Given the description of an element on the screen output the (x, y) to click on. 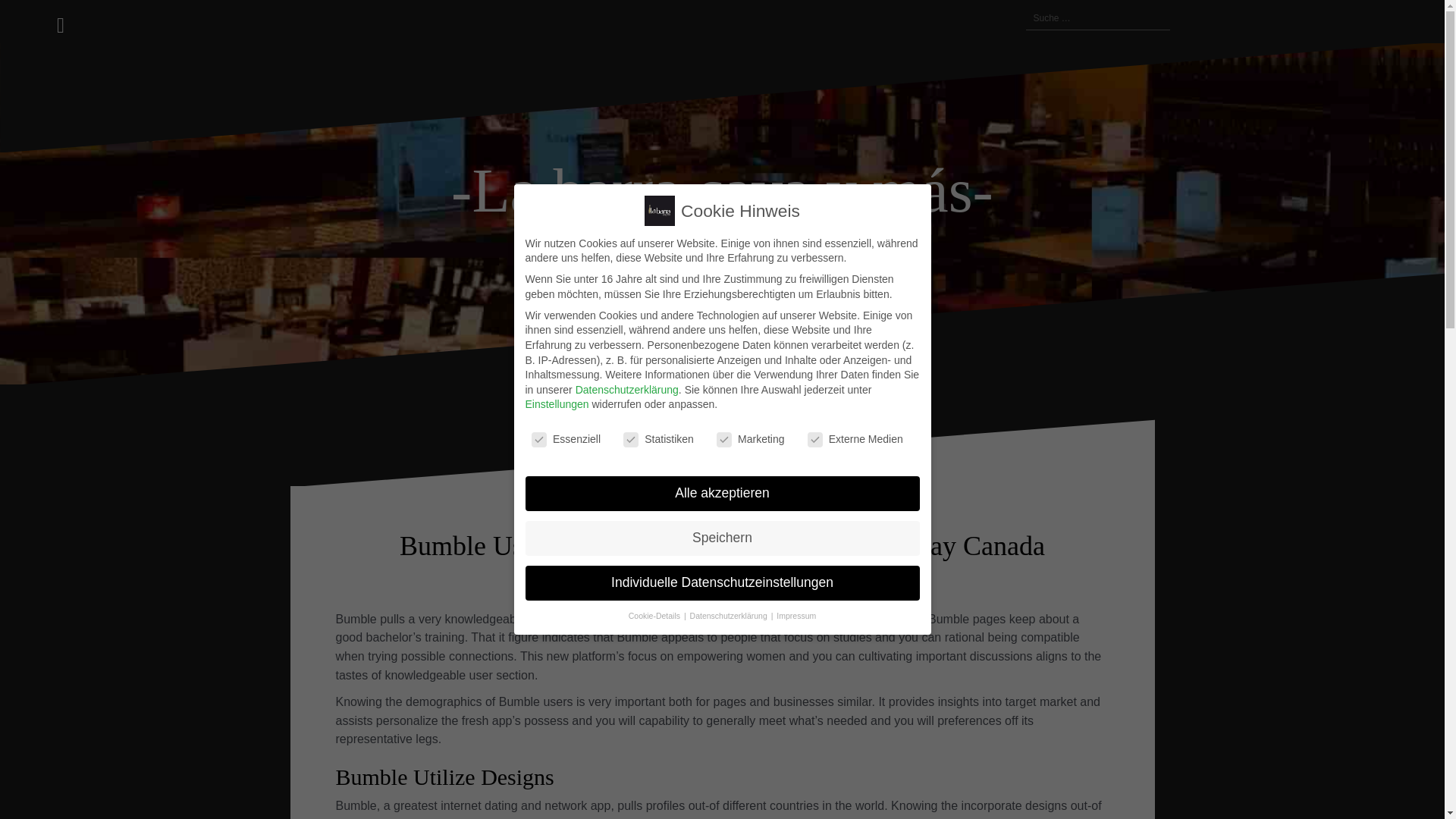
Stefan (665, 579)
belize-women free online sites for singles (776, 579)
LINKS (970, 17)
PRESSE (951, 17)
IMPRESSUM (1006, 17)
Suche (28, 20)
3. April 2024 (609, 579)
